Given the description of an element on the screen output the (x, y) to click on. 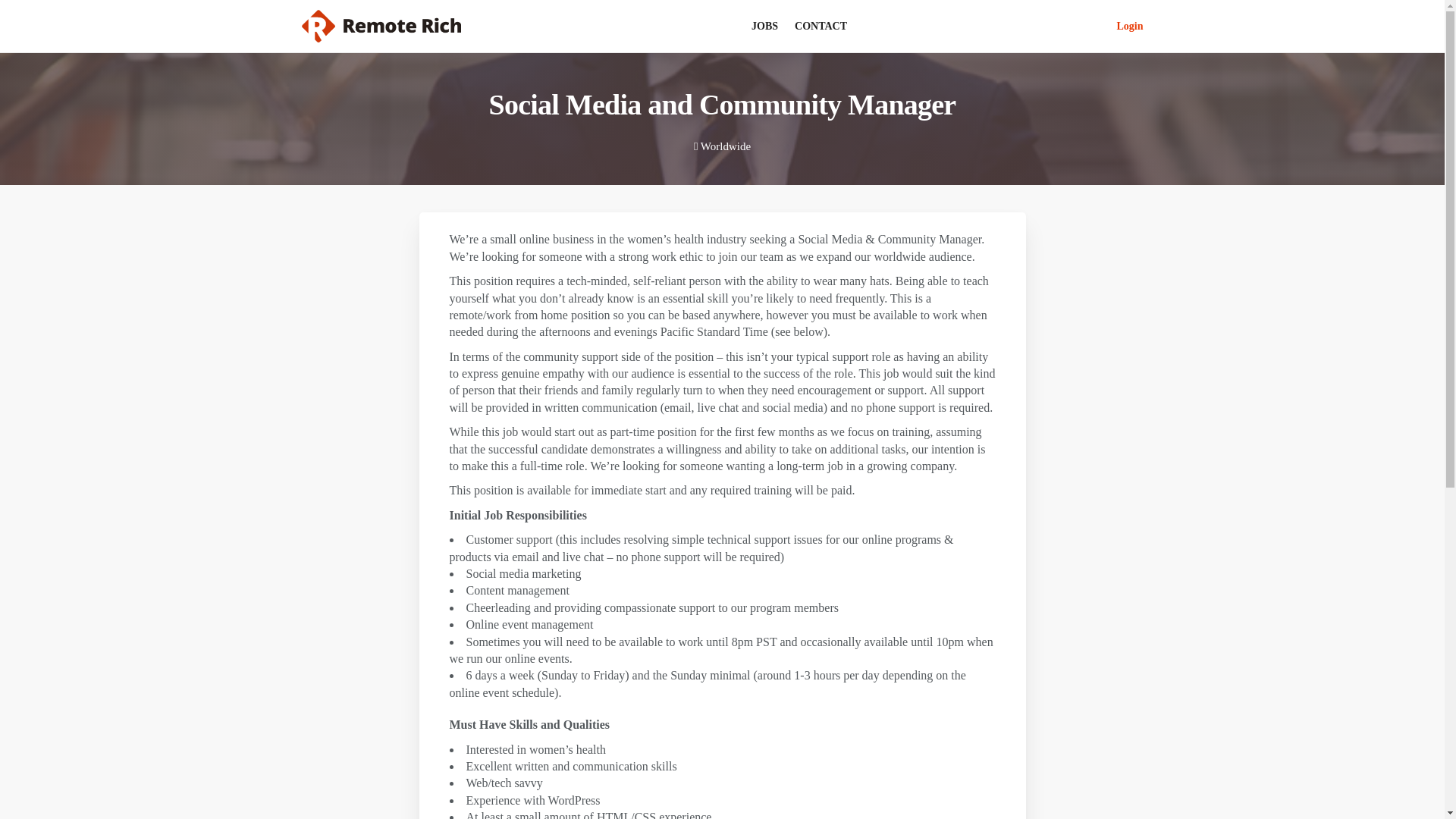
CONTACT (820, 25)
JOBS (764, 25)
Login (1129, 25)
